Given the description of an element on the screen output the (x, y) to click on. 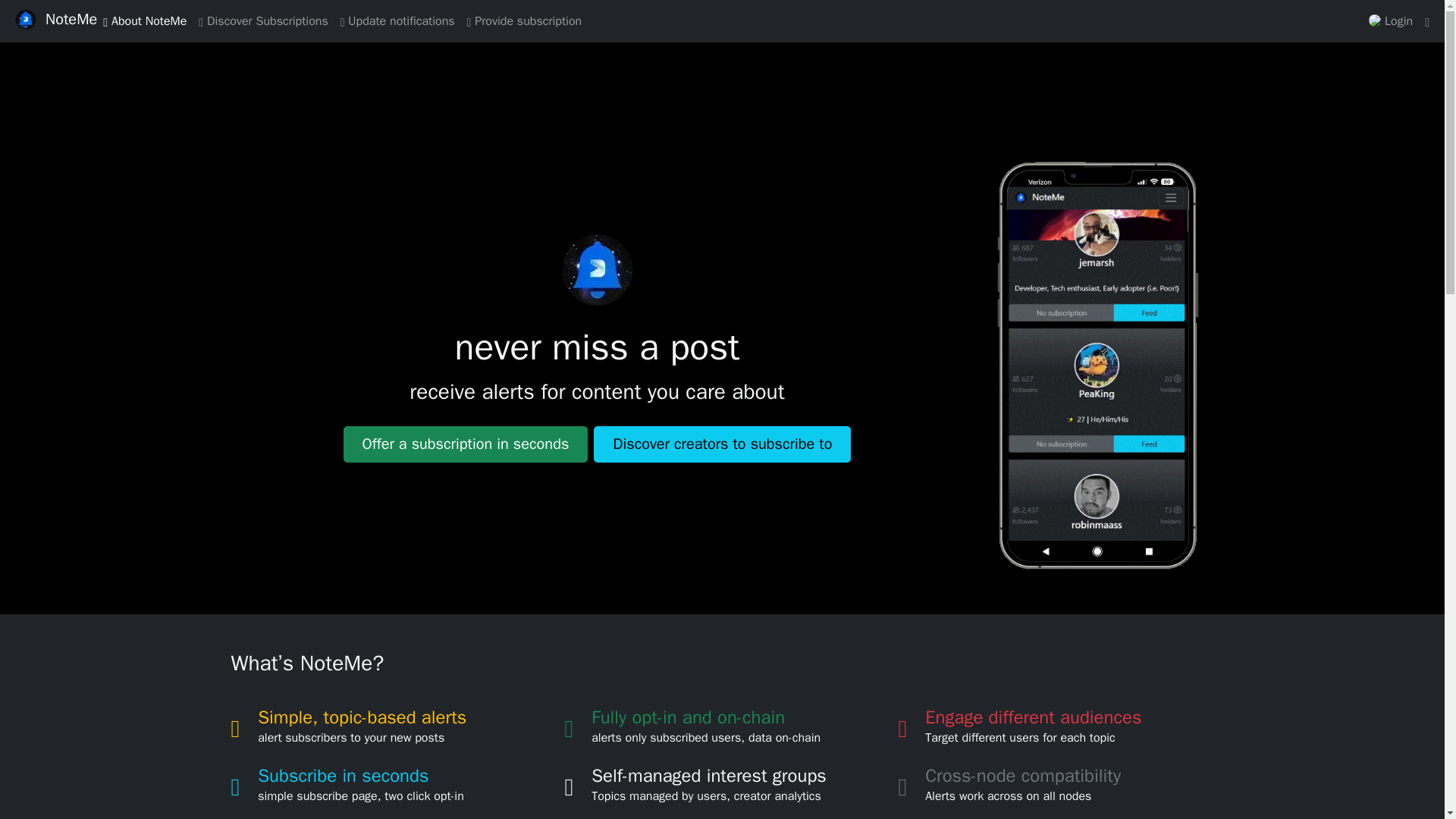
Discover creators to subscribe to (722, 443)
Login (1390, 20)
Update notifications (397, 20)
Discover Subscriptions (262, 20)
Offer a subscription in seconds (465, 443)
About NoteMe (144, 20)
NoteMe (71, 20)
Provide subscription (524, 20)
